Given the description of an element on the screen output the (x, y) to click on. 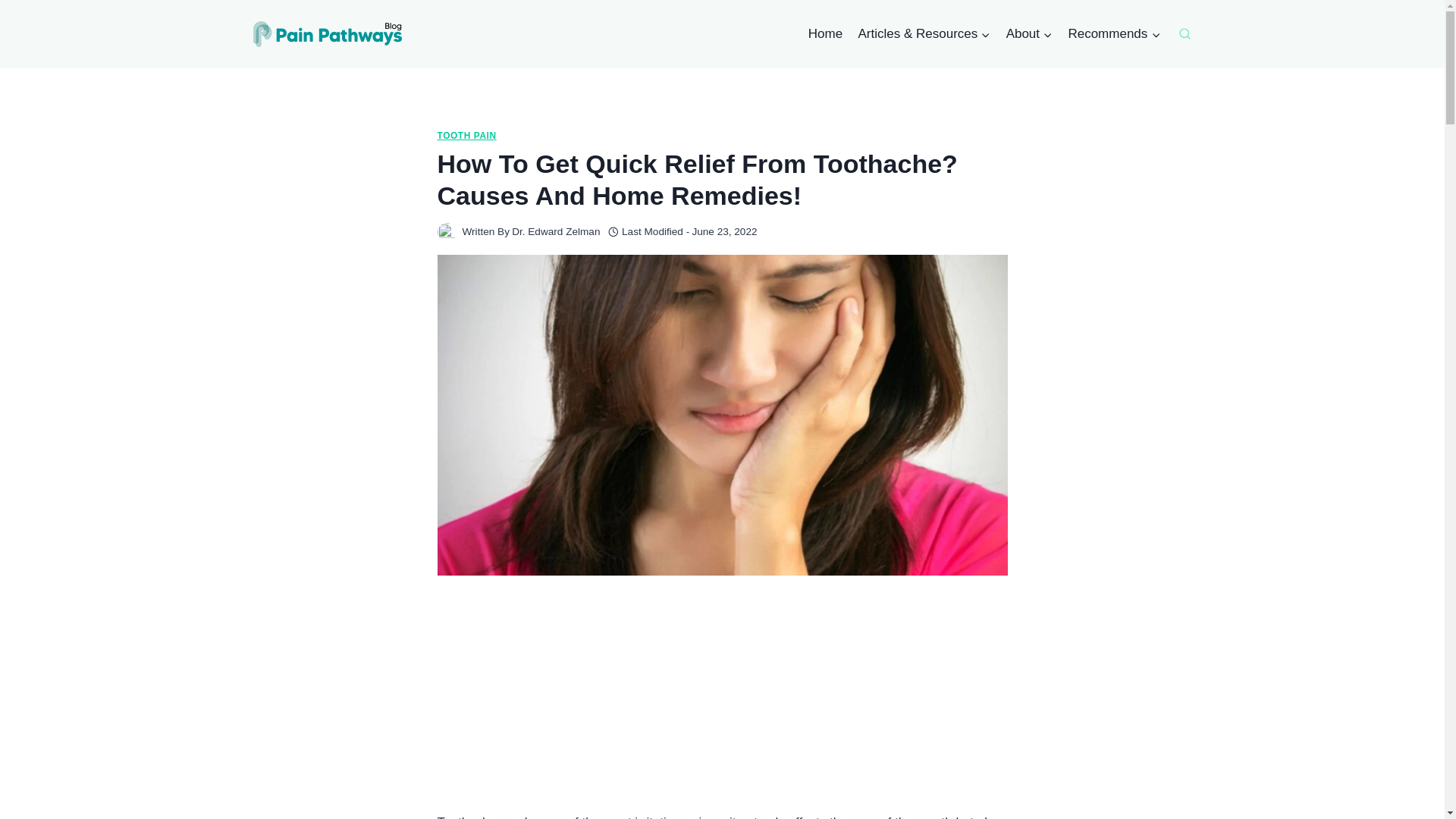
Home (825, 33)
Advertisement (721, 705)
Recommends (1113, 33)
About (1028, 33)
